Given the description of an element on the screen output the (x, y) to click on. 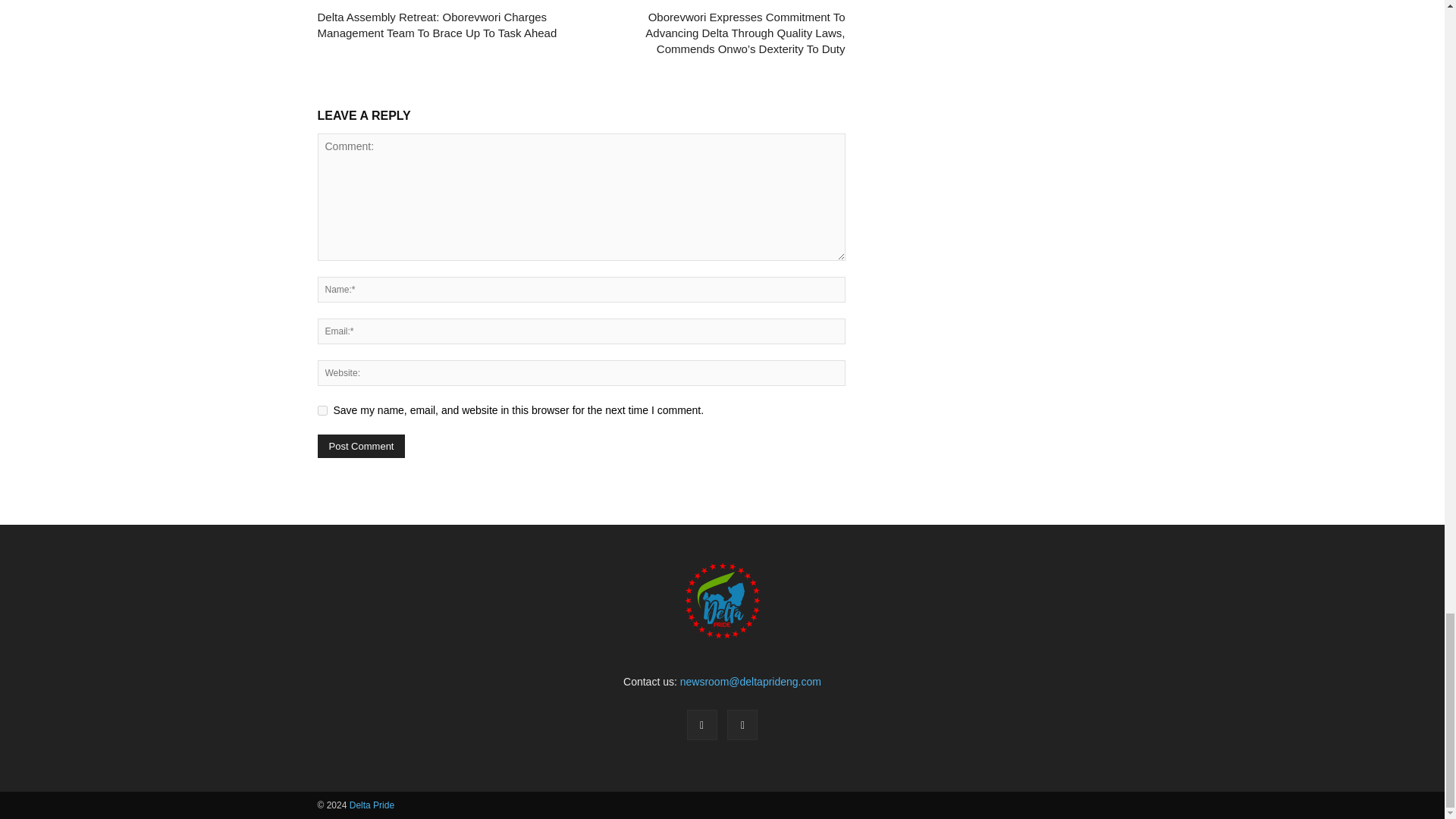
Twitter (741, 725)
Facebook (702, 725)
Post Comment (360, 445)
yes (321, 410)
Post Comment (360, 445)
